Given the description of an element on the screen output the (x, y) to click on. 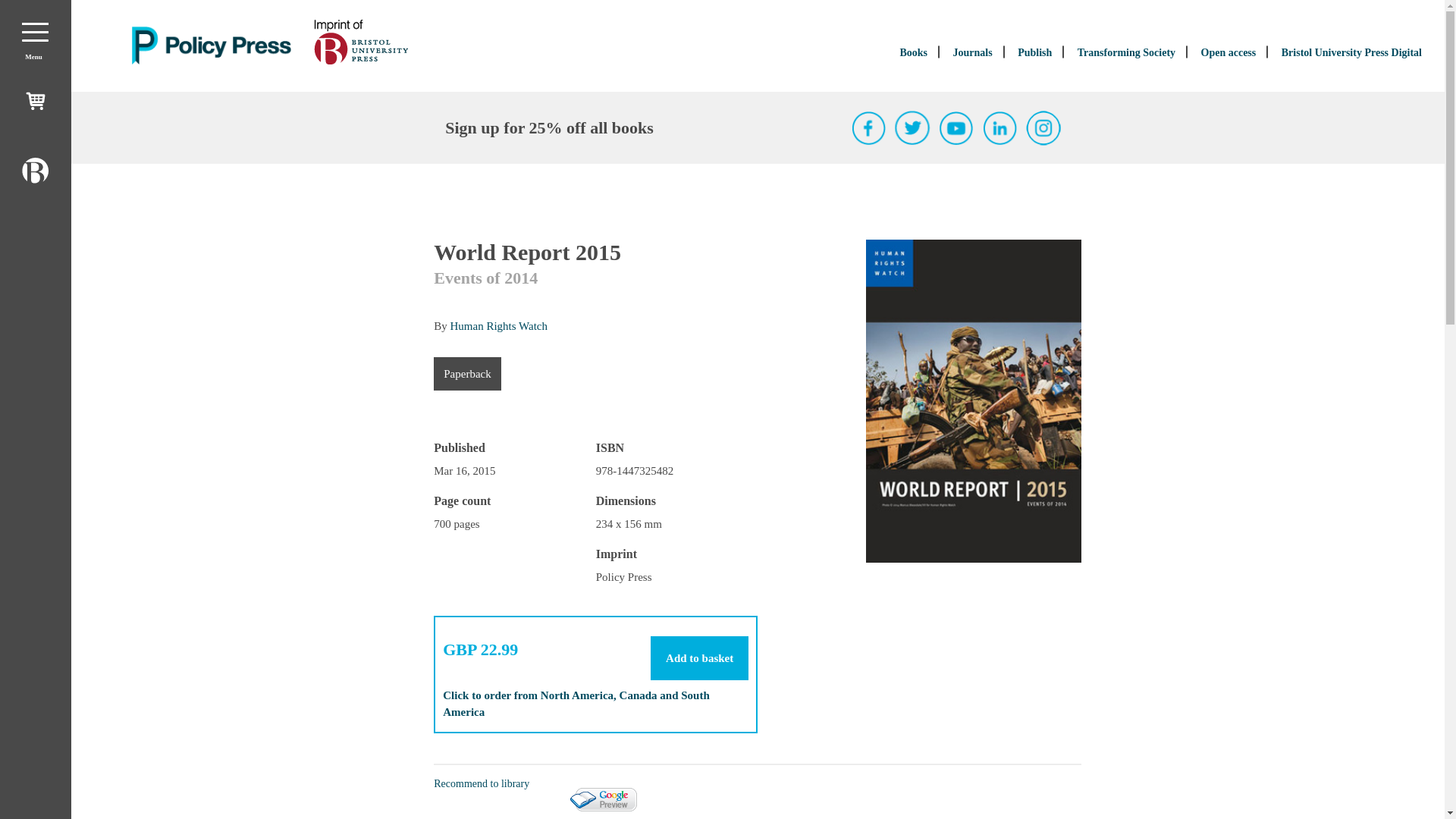
Instagram page (1043, 127)
Facebook page (868, 127)
YouTube page (956, 127)
Toggle navigation (34, 31)
Twitter page (912, 127)
LinkedIn page (999, 127)
